Given the description of an element on the screen output the (x, y) to click on. 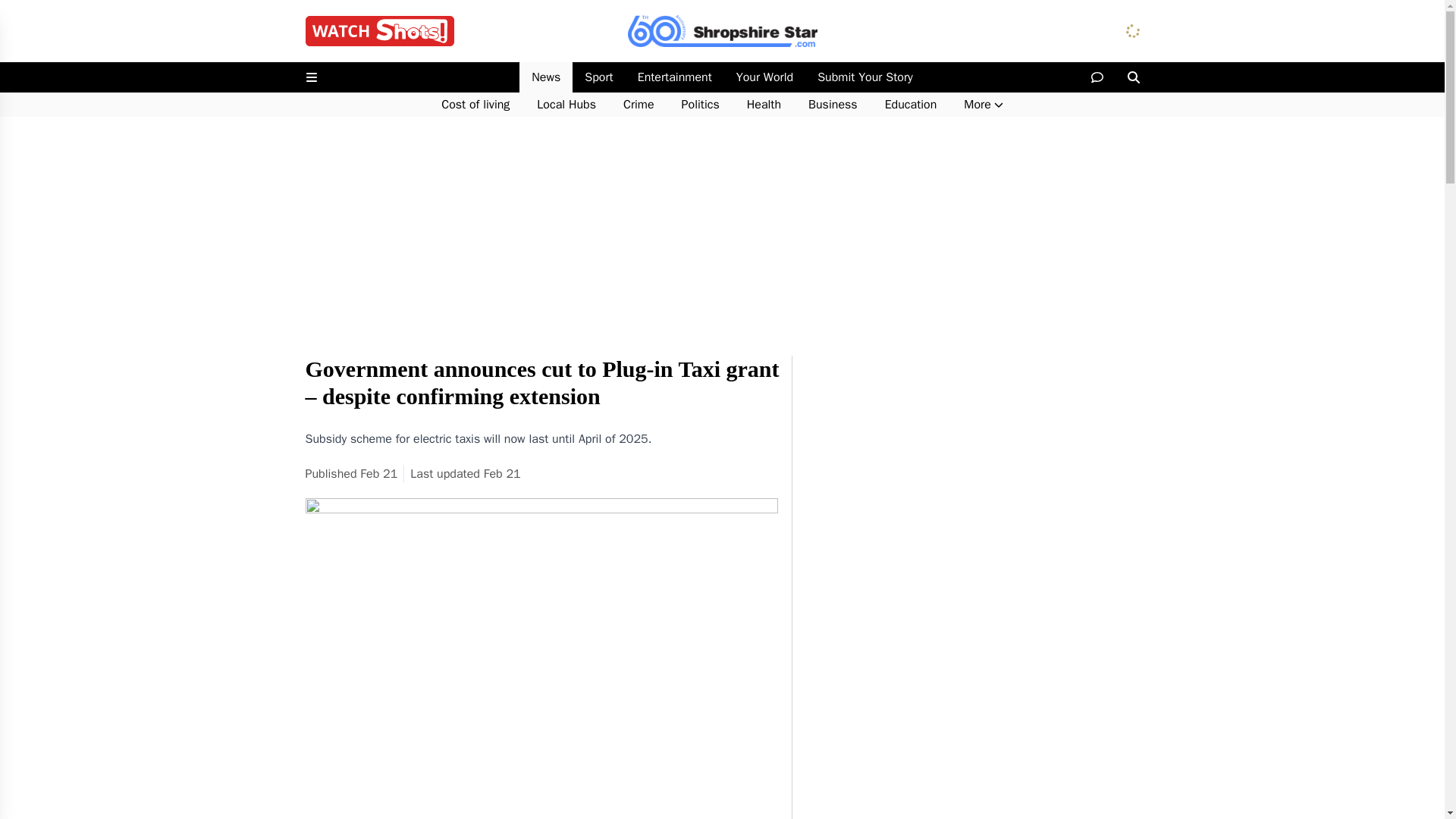
Health (764, 104)
Crime (638, 104)
Cost of living (475, 104)
Local Hubs (566, 104)
Business (832, 104)
Entertainment (674, 77)
More (983, 104)
Sport (598, 77)
News (545, 77)
Politics (700, 104)
Your World (764, 77)
Education (910, 104)
Submit Your Story (864, 77)
